Given the description of an element on the screen output the (x, y) to click on. 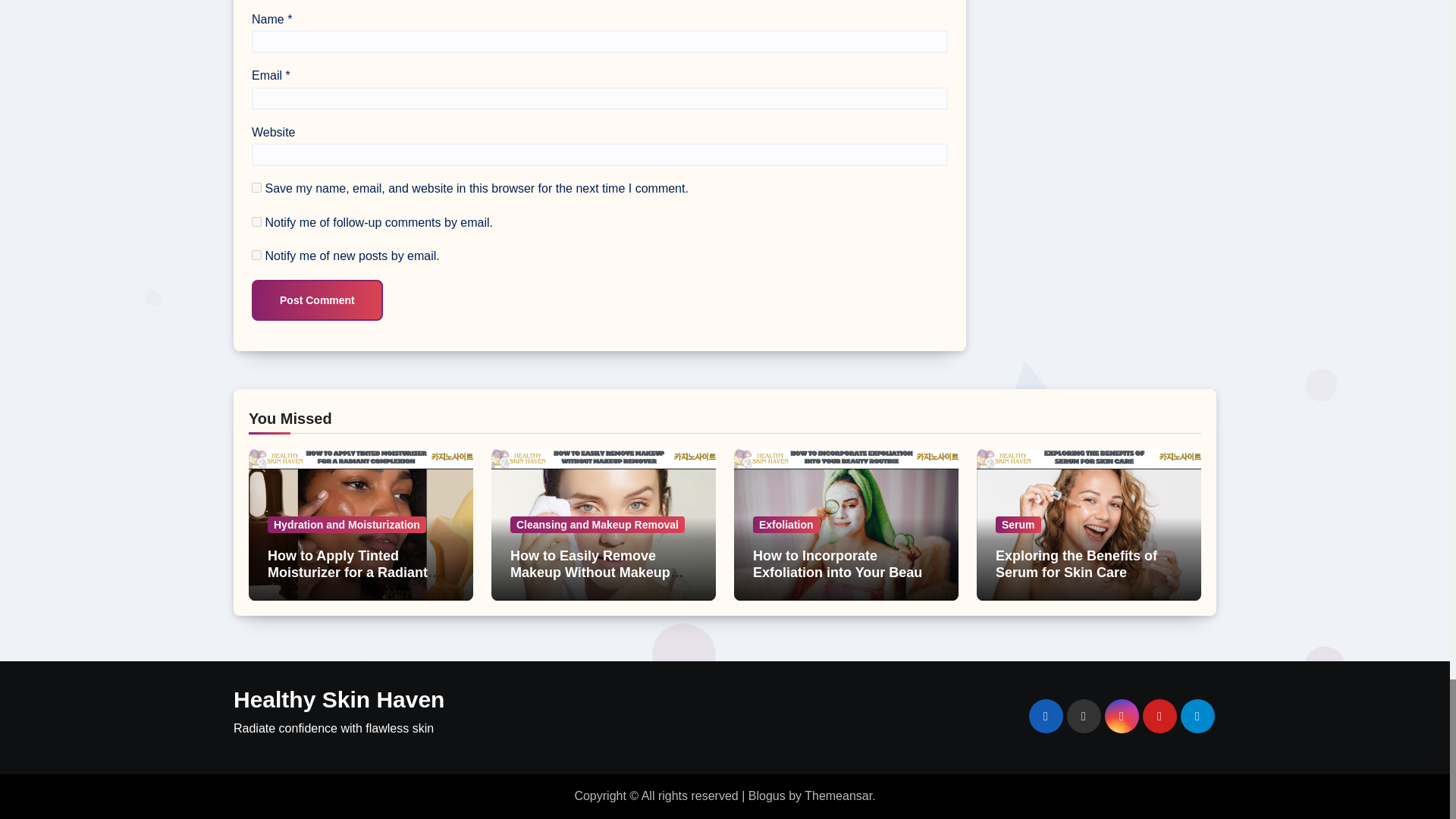
subscribe (256, 221)
yes (256, 187)
Post Comment (316, 300)
subscribe (256, 255)
